Given the description of an element on the screen output the (x, y) to click on. 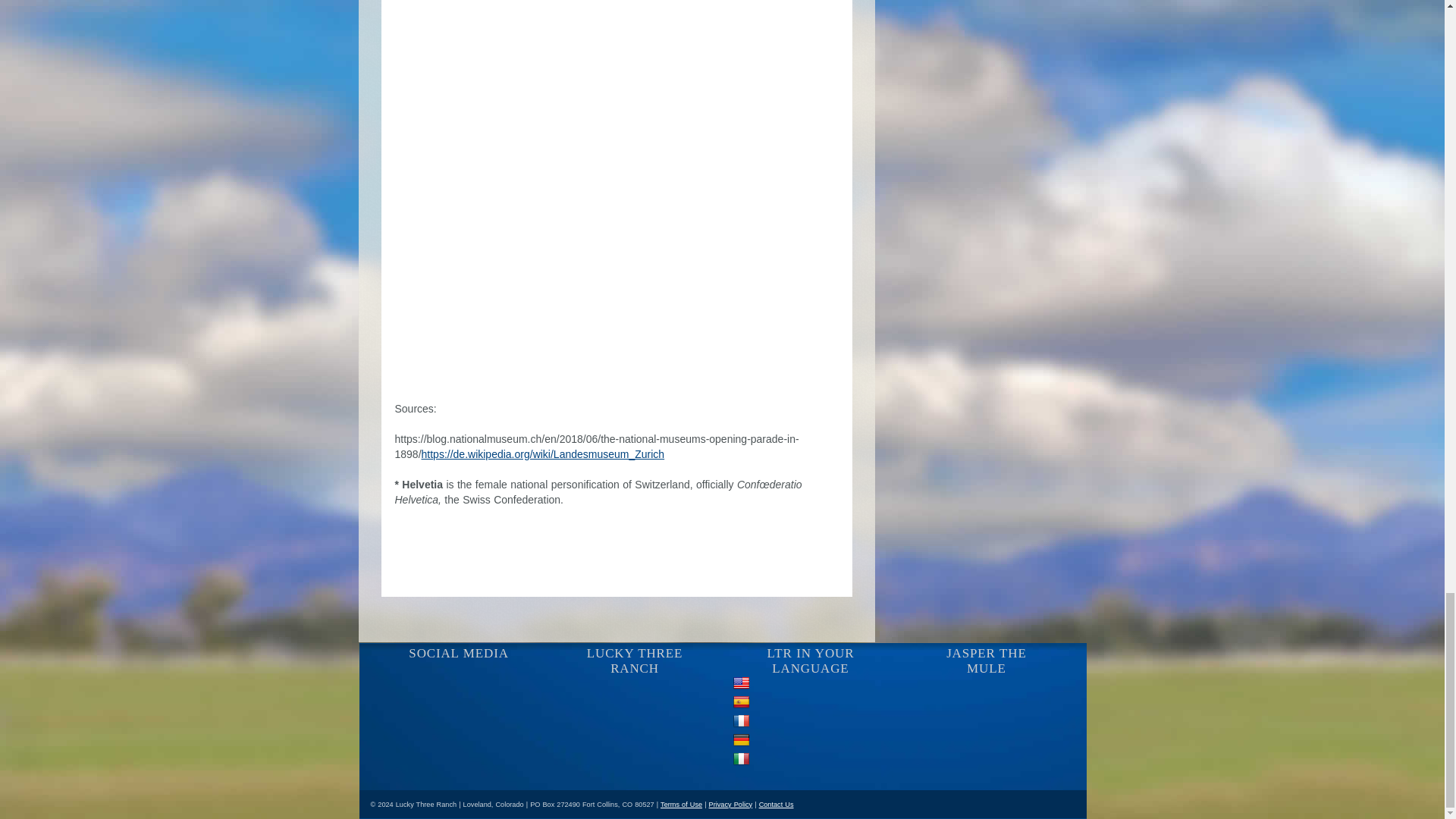
French (741, 721)
Spanish (741, 702)
English (741, 683)
Italian (741, 759)
German (741, 740)
